Given the description of an element on the screen output the (x, y) to click on. 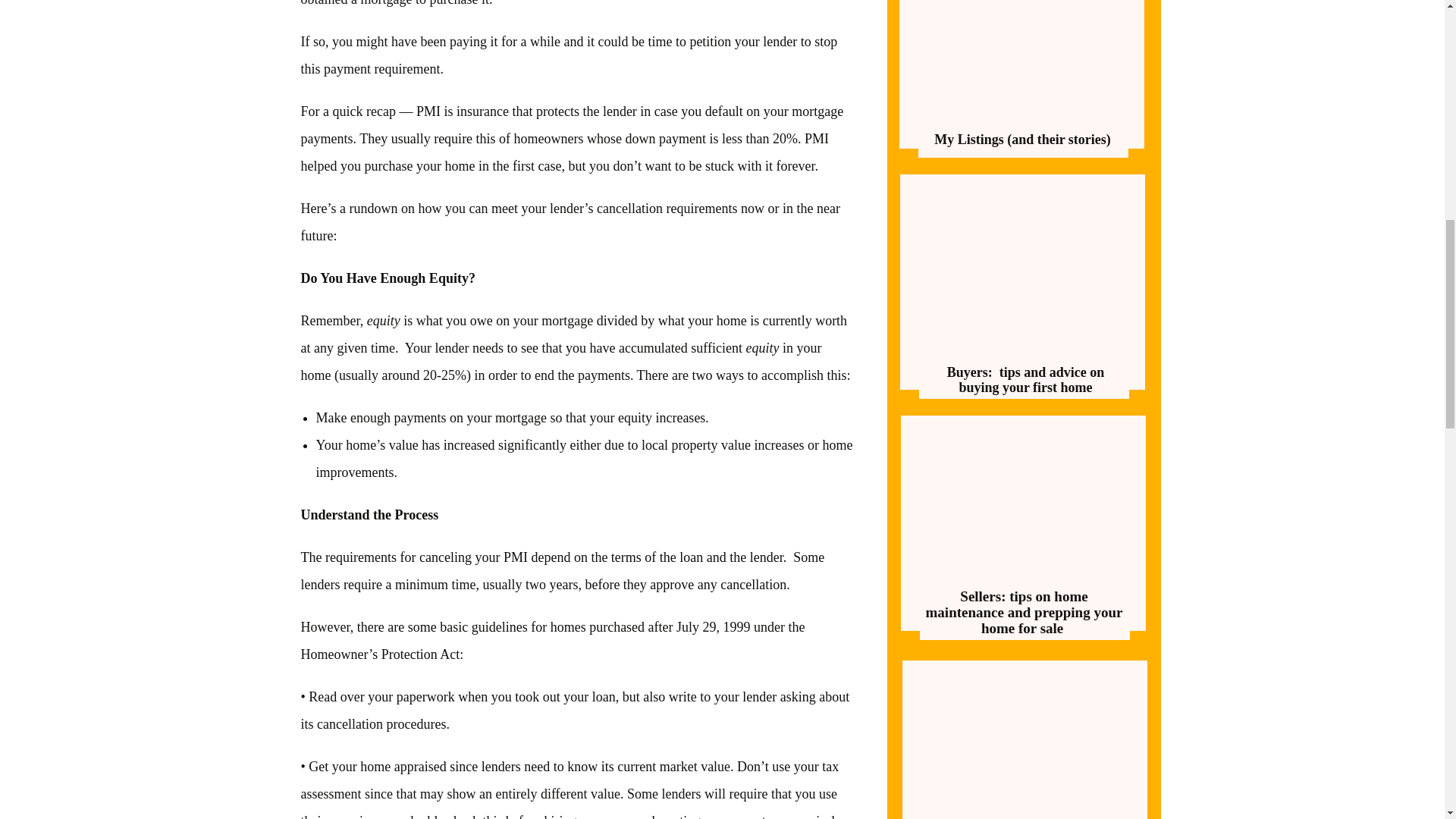
Buyers:  tips and advice on buying your first home (1025, 380)
